Given the description of an element on the screen output the (x, y) to click on. 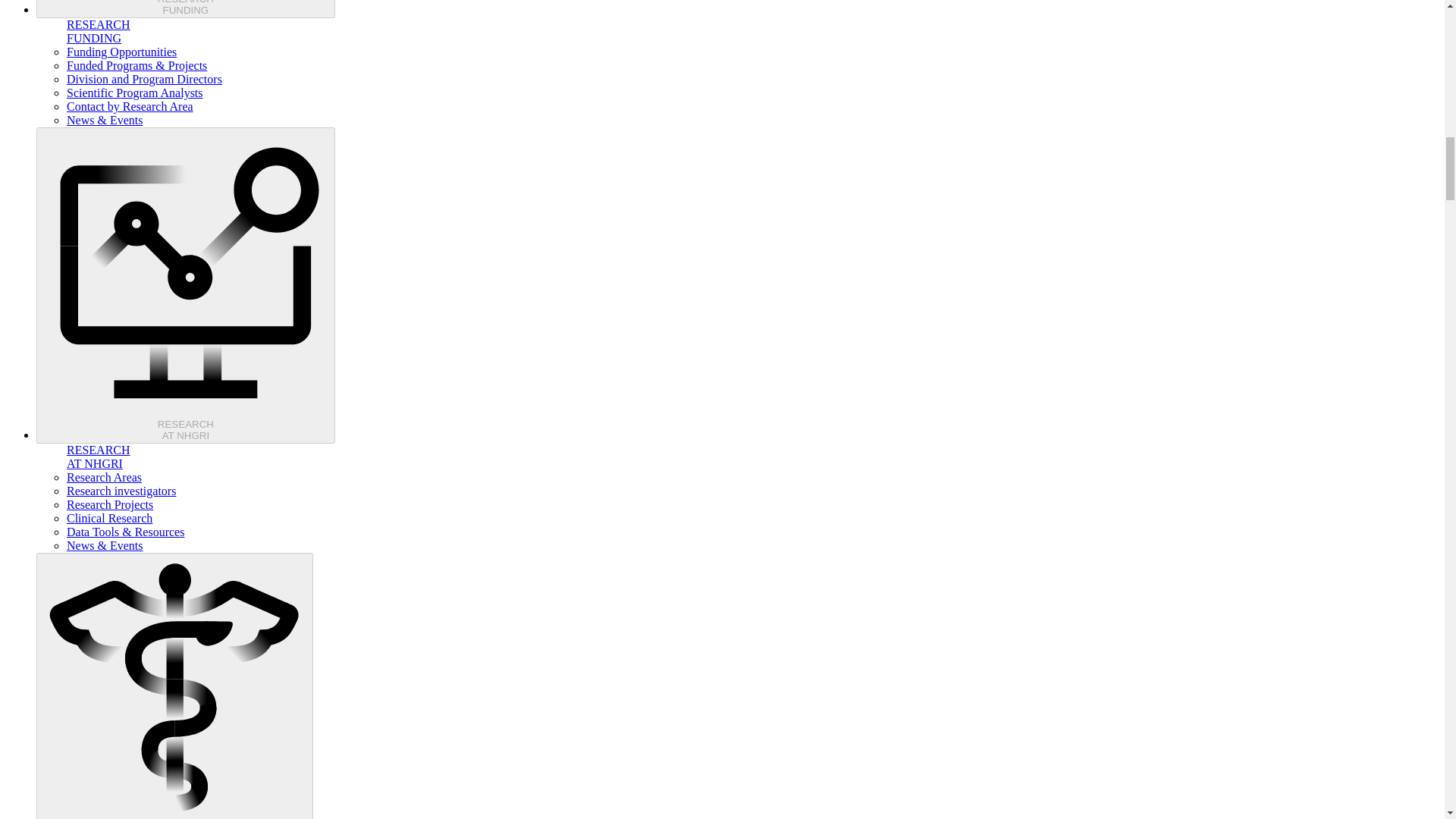
Research Areas (103, 477)
Clinical Research (109, 517)
Division and Program Directors (144, 78)
Funding Opportunities (185, 285)
Scientific Program Analysts (121, 51)
Research Projects (134, 92)
Research investigators (185, 9)
Contact by Research Area (109, 504)
